Given the description of an element on the screen output the (x, y) to click on. 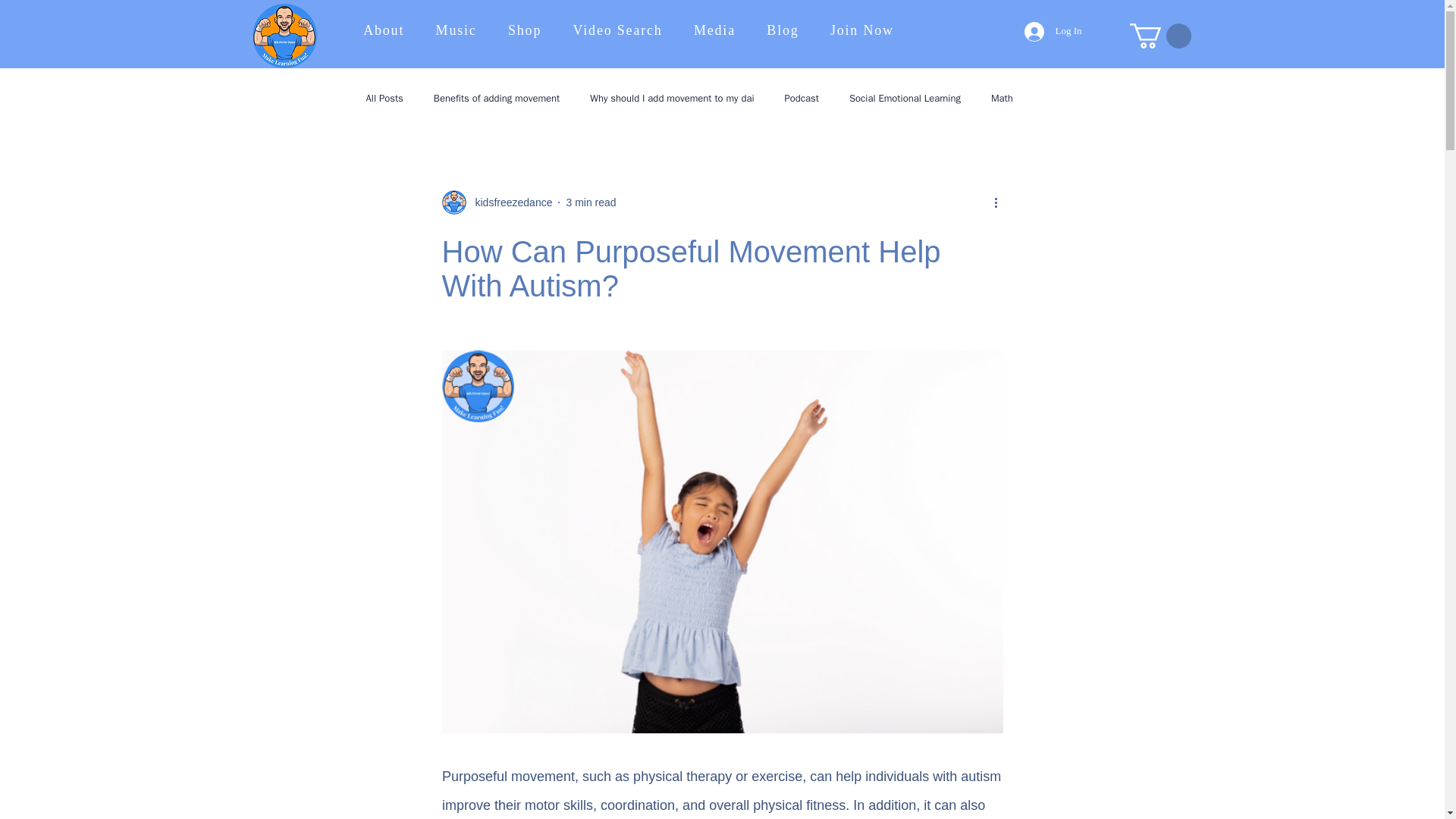
Log In (1052, 30)
Social Emotional Learning (904, 98)
Video Search (617, 30)
Benefits of adding movement (496, 98)
3 min read (590, 202)
Math (1002, 98)
Music (456, 30)
kidsfreezedance (508, 202)
Why should I add movement to my dai (671, 98)
Blog (783, 30)
Media (714, 30)
Shop (524, 30)
Podcast (801, 98)
About (383, 30)
All Posts (384, 98)
